Given the description of an element on the screen output the (x, y) to click on. 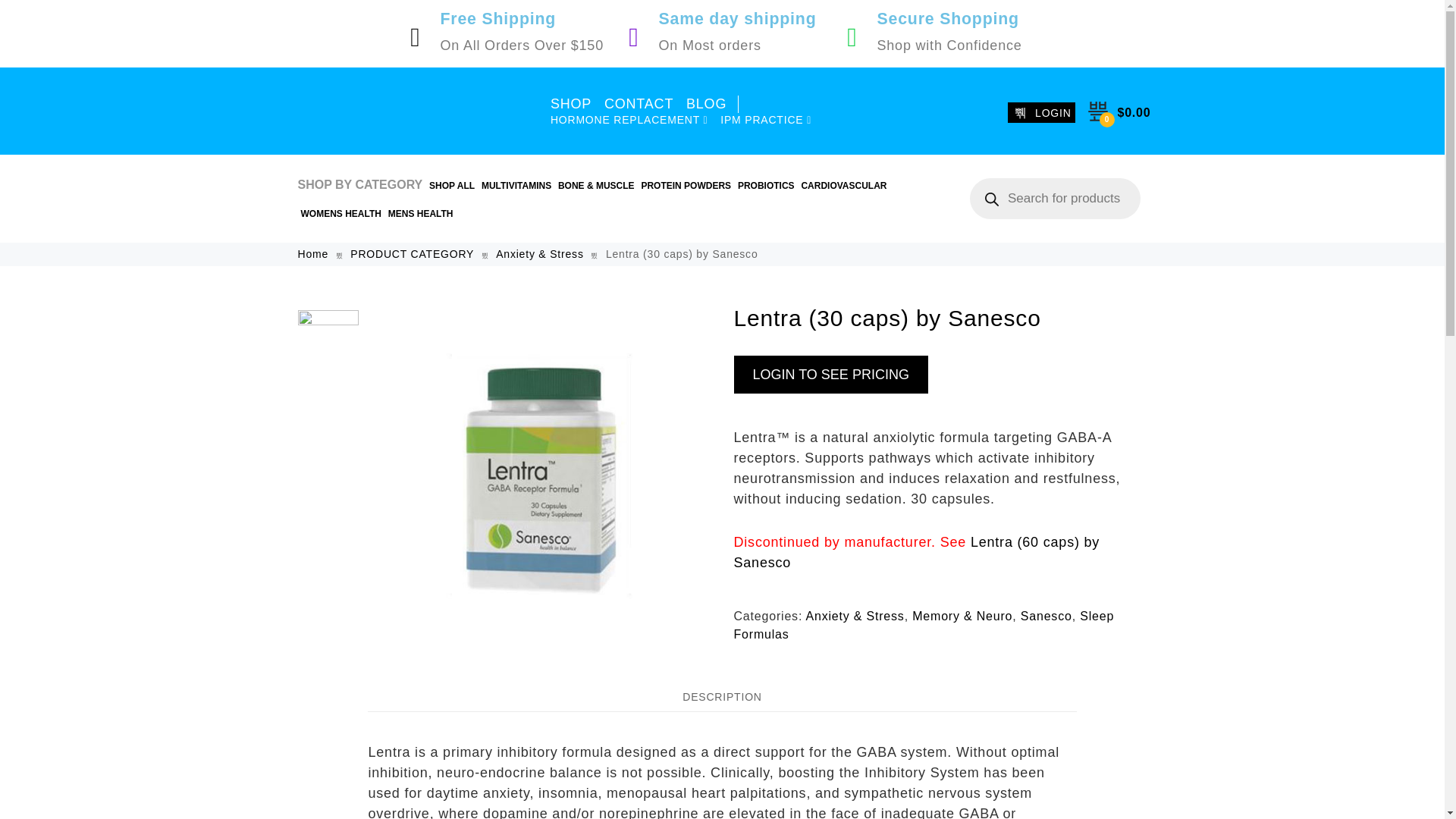
CARDIOVASCULAR (843, 185)
Login (722, 342)
SHOP (571, 104)
SHOP BY CATEGORY (359, 184)
IPM Supplements (410, 110)
WOMENS HEALTH (339, 214)
CONTACT (638, 104)
BLOG (711, 104)
MULTIVITAMINS (516, 185)
best-lentra-30-caps-sanesco-for-sale (540, 474)
MENS HEALTH (420, 214)
HORMONE REPLACEMENT (629, 119)
IPM PRACTICE (765, 119)
SHOP ALL (451, 185)
PROBIOTICS (766, 185)
